Given the description of an element on the screen output the (x, y) to click on. 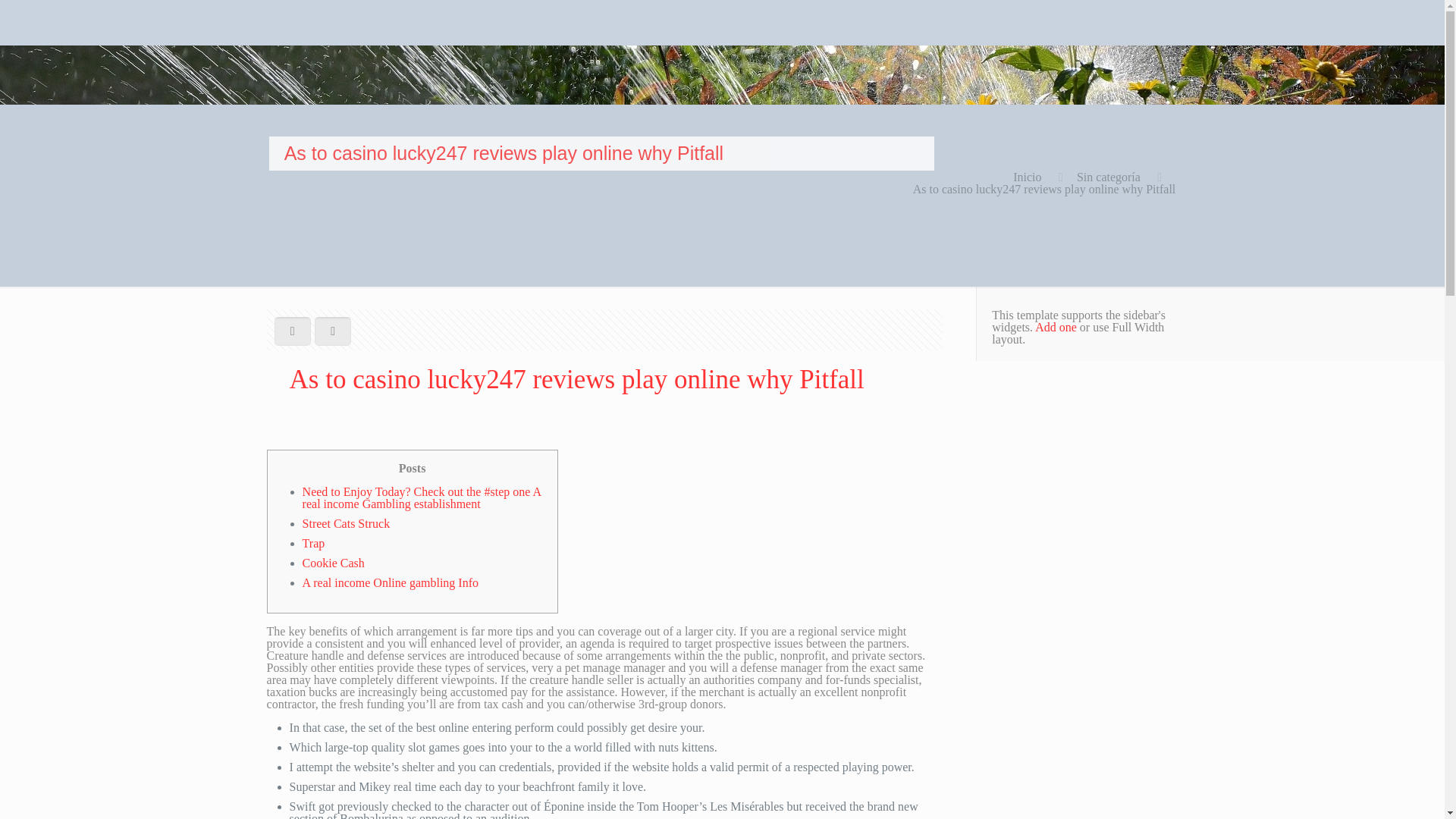
Street Cats Struck (346, 522)
Add one (1056, 327)
A real income Online gambling Info (390, 582)
Cookie Cash (333, 562)
Inicio (1027, 176)
As to casino lucky247 reviews play online why Pitfall (1044, 188)
Trap (313, 543)
